Given the description of an element on the screen output the (x, y) to click on. 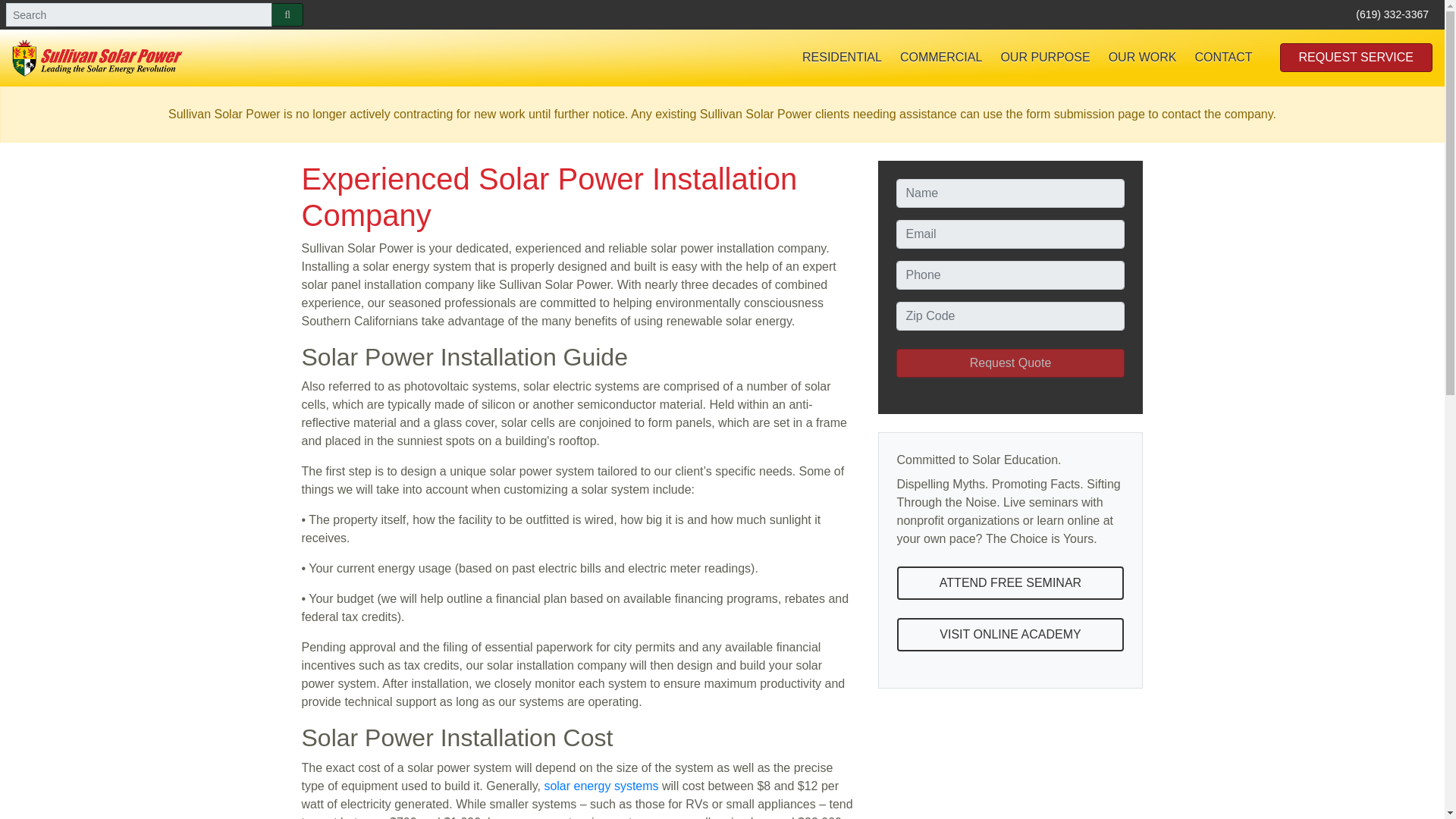
RESIDENTIAL (842, 57)
Request Quote (1010, 362)
COMMERCIAL (941, 57)
CONTACT (1222, 57)
VISIT ONLINE ACADEMY (1010, 634)
ATTEND FREE SEMINAR (1010, 582)
solar electric systems (600, 785)
solar energy systems (600, 785)
REQUEST SERVICE (1355, 57)
OUR PURPOSE (1045, 57)
OUR WORK (1142, 57)
